Given the description of an element on the screen output the (x, y) to click on. 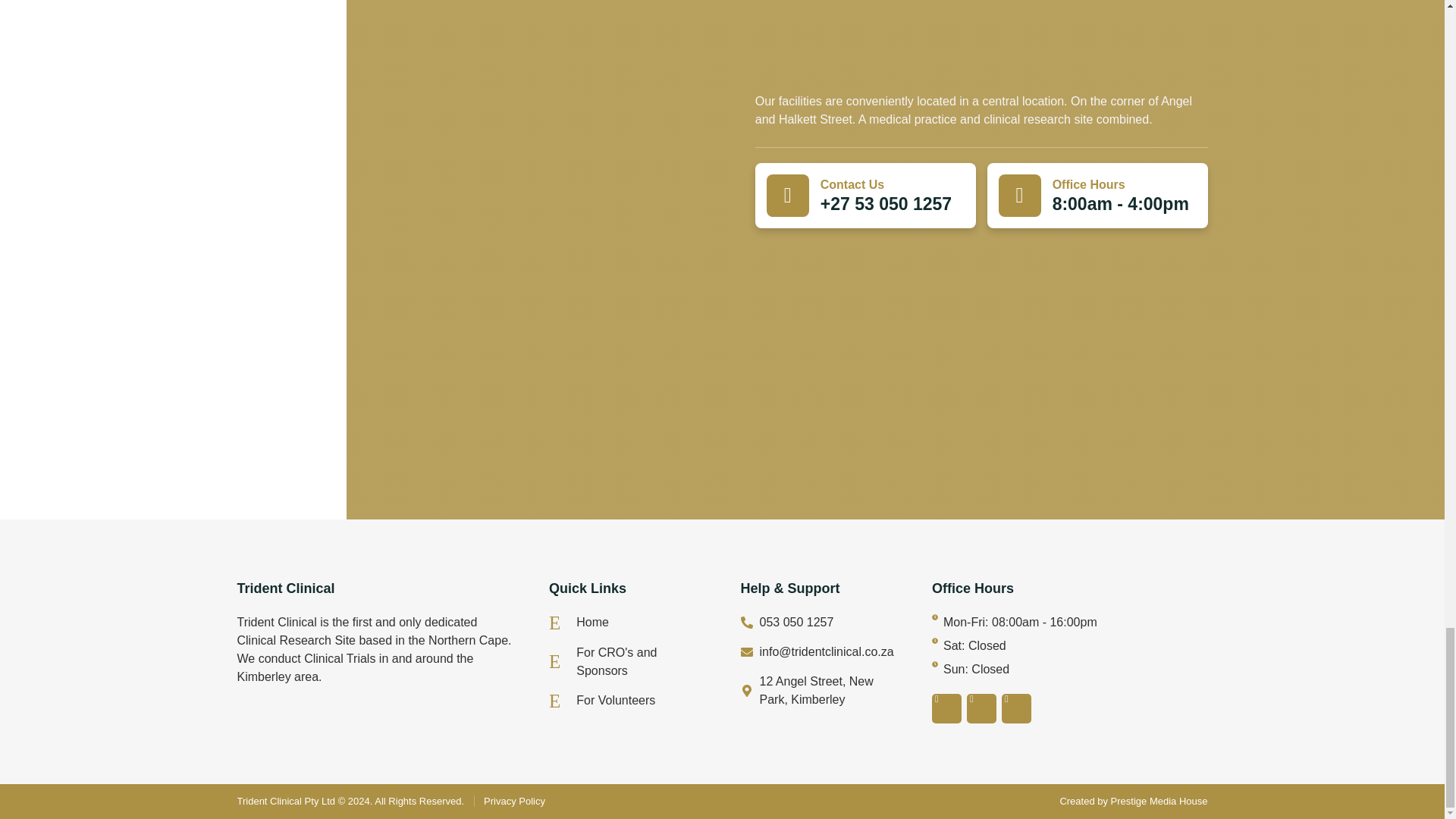
053 050 1257 (817, 622)
For CRO's and Sponsors (625, 661)
12 Angel Street, New Park, Kimberley (817, 690)
Home (625, 622)
Office Hours (1088, 184)
Contact Us (852, 184)
For Volunteers (625, 700)
Trident Clinical (284, 588)
Trident Clinical (981, 356)
